Given the description of an element on the screen output the (x, y) to click on. 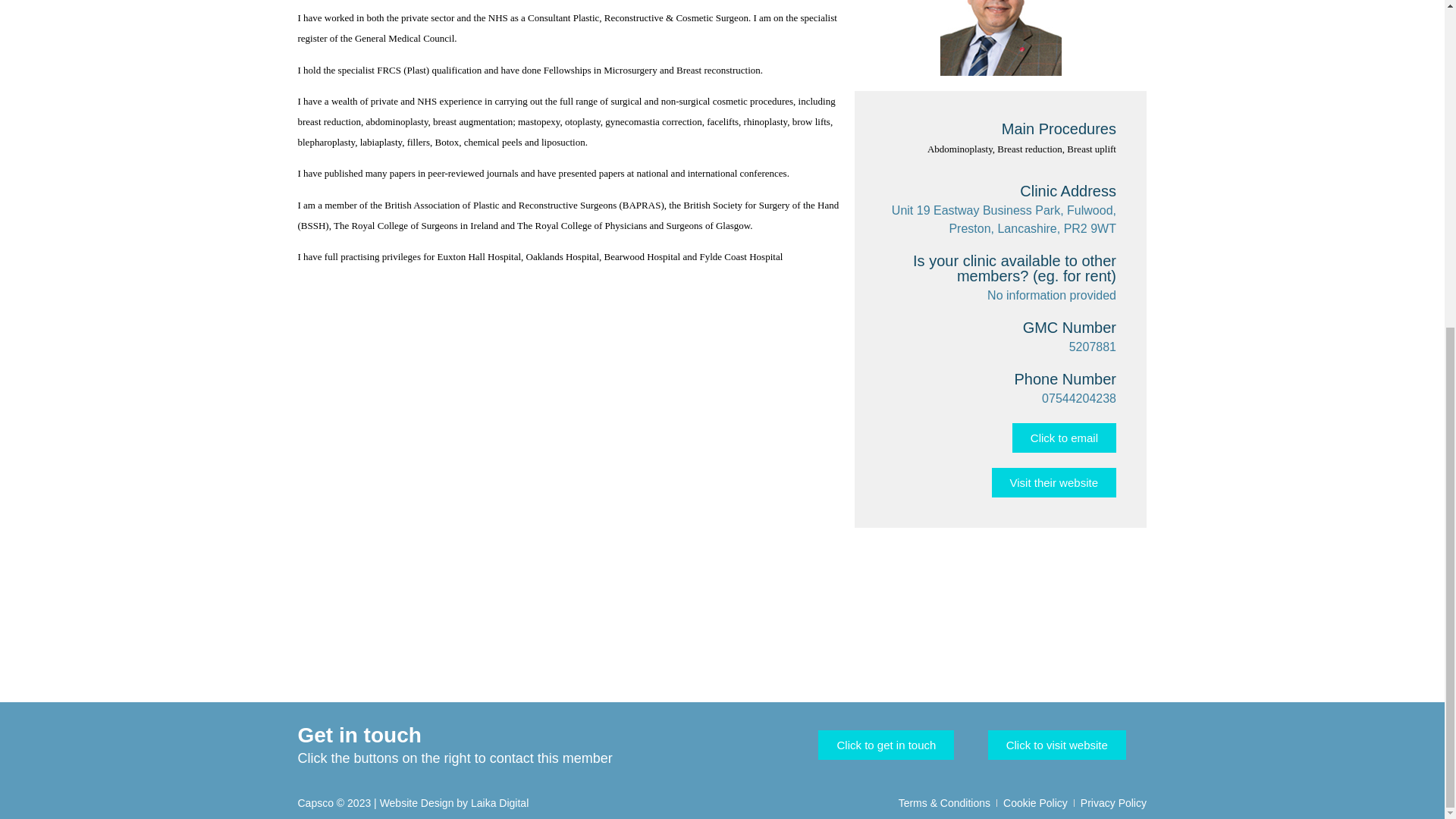
Click to email (1063, 437)
Visit their website (1053, 482)
Click to get in touch (885, 745)
Website Design by Laika Digital (454, 802)
Click to visit website (1056, 745)
